Given the description of an element on the screen output the (x, y) to click on. 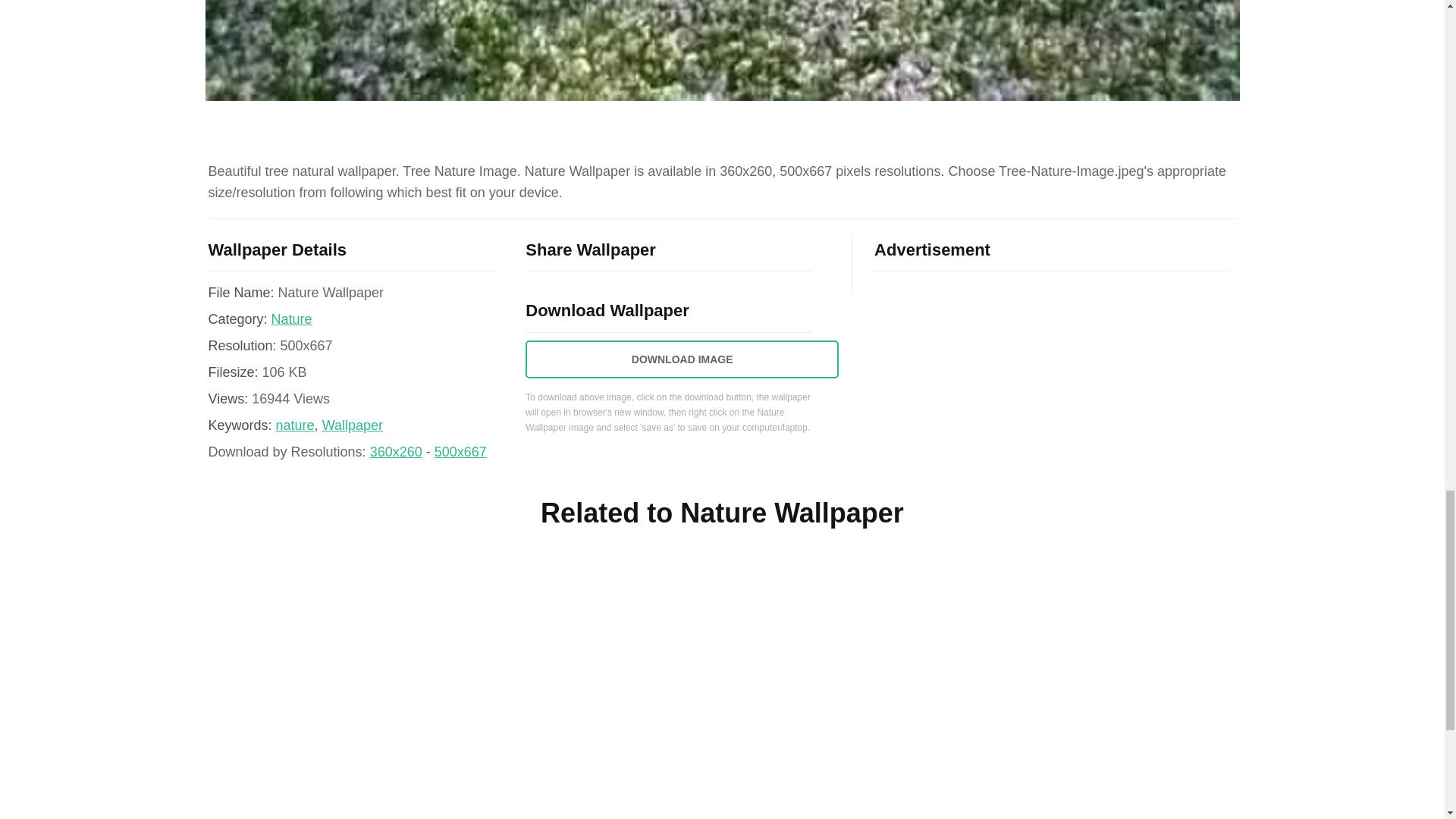
View all posts in Nature (291, 319)
